Given the description of an element on the screen output the (x, y) to click on. 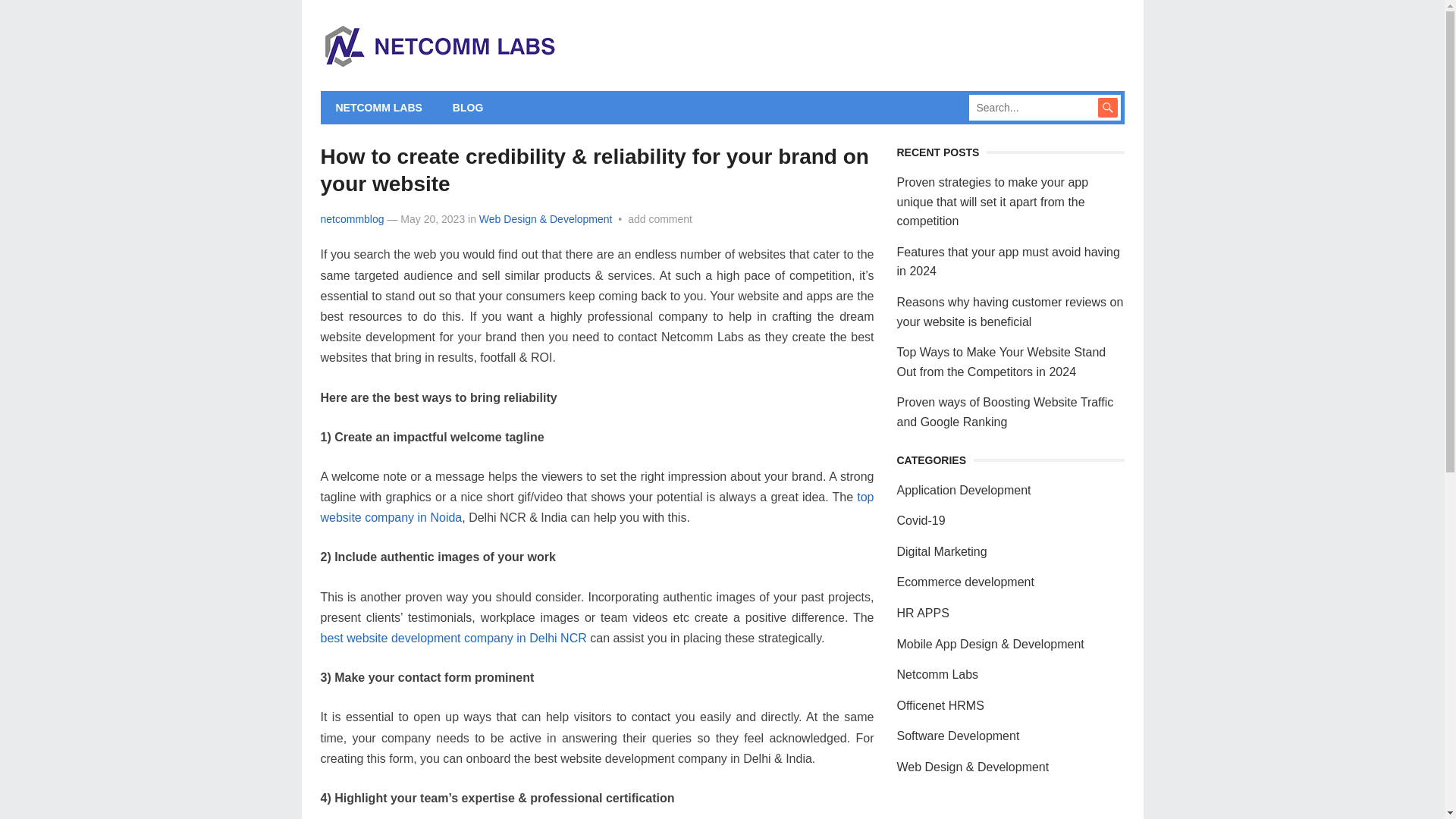
Netcomm Labs (937, 674)
netcommblog (352, 218)
Ecommerce development (964, 581)
Software Development (957, 735)
top website company in Noida (596, 507)
Proven ways of Boosting Website Traffic and Google Ranking (1004, 411)
Digital Marketing (941, 551)
Posts by netcommblog (352, 218)
Application Development (963, 490)
